Given the description of an element on the screen output the (x, y) to click on. 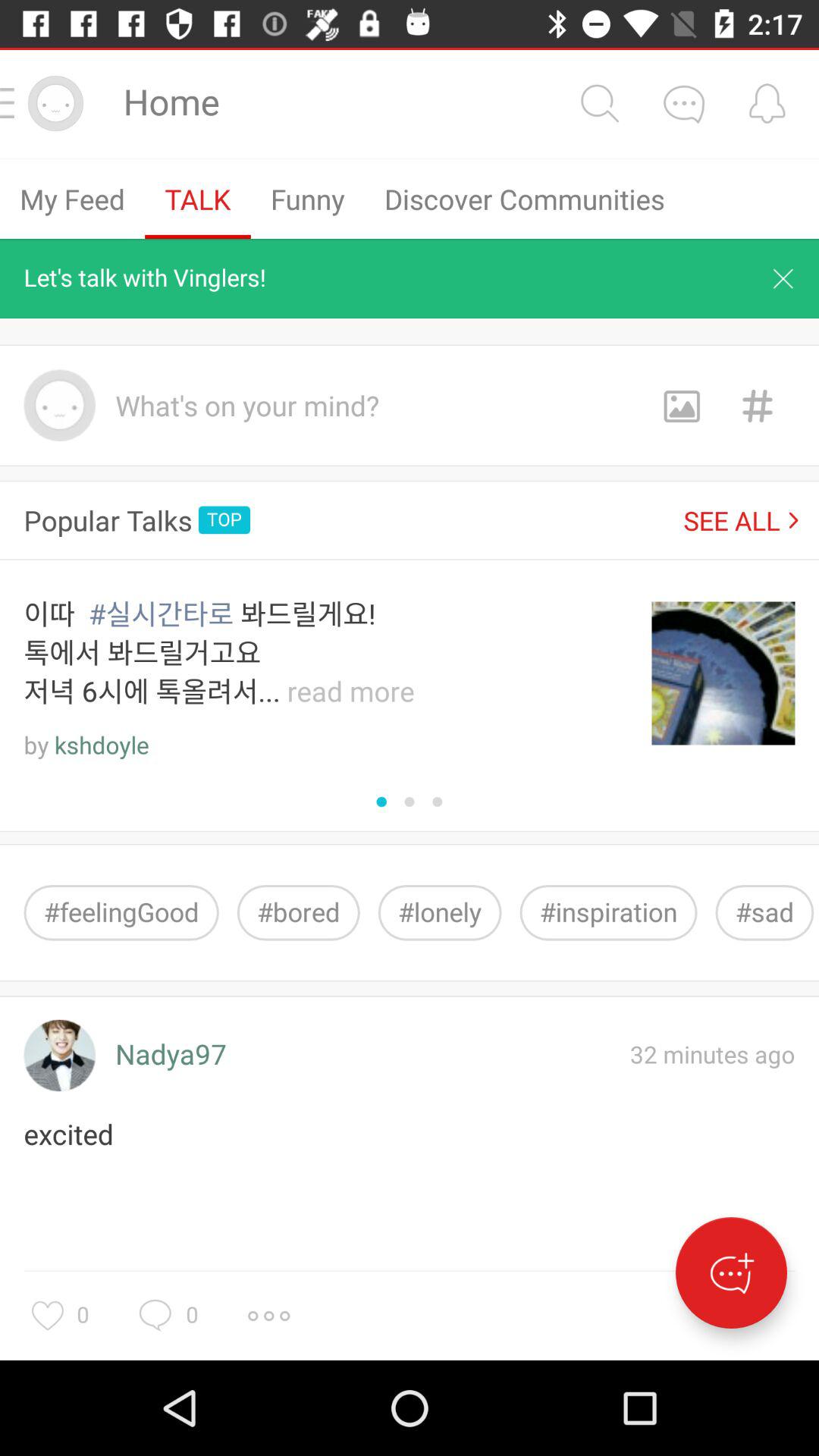
turn off item to the right of the by  icon (101, 745)
